Given the description of an element on the screen output the (x, y) to click on. 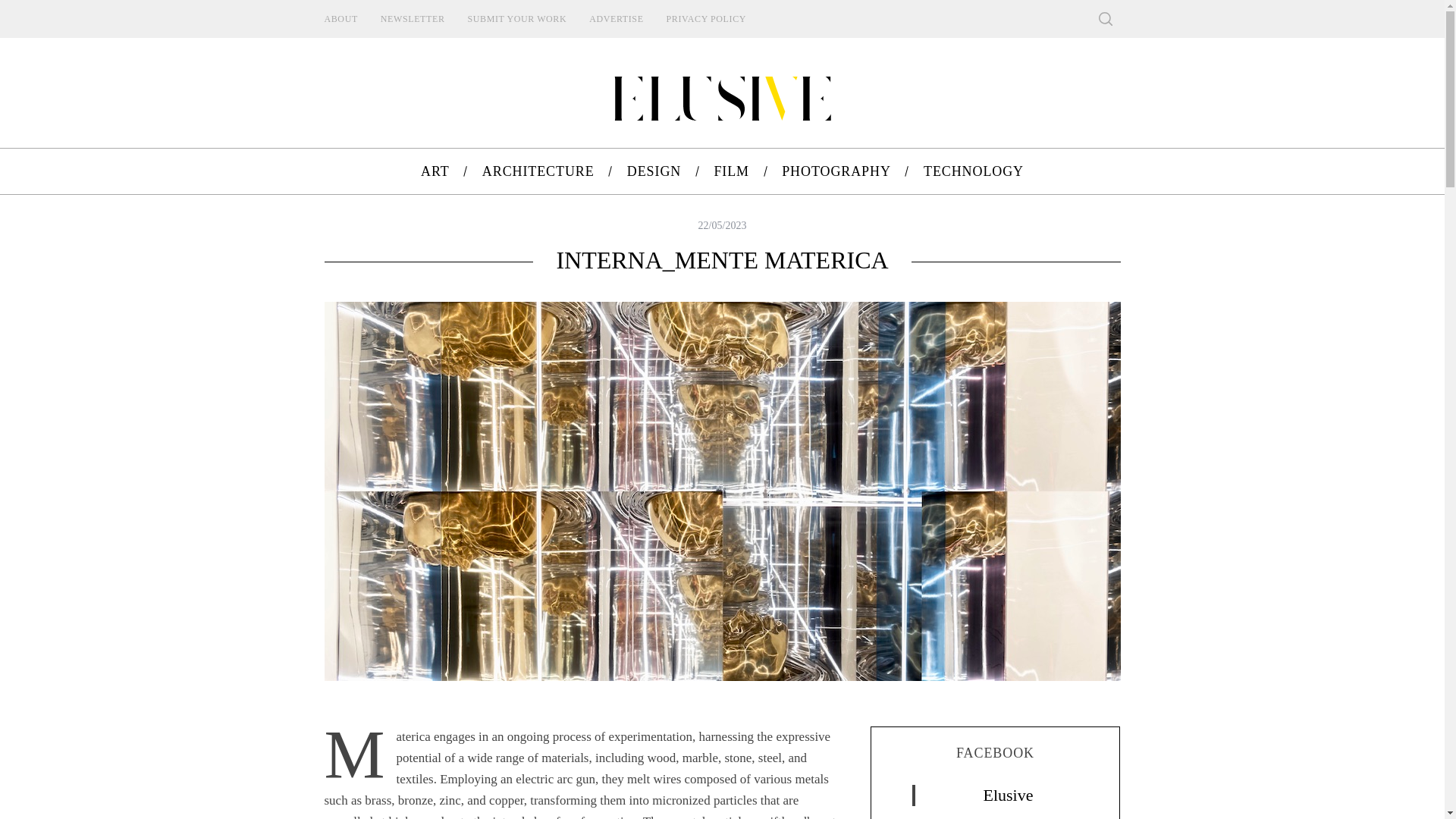
SUBMIT YOUR WORK (517, 18)
ADVERTISE (615, 18)
PRIVACY POLICY (706, 18)
ABOUT (340, 18)
NEWSLETTER (413, 18)
